Given the description of an element on the screen output the (x, y) to click on. 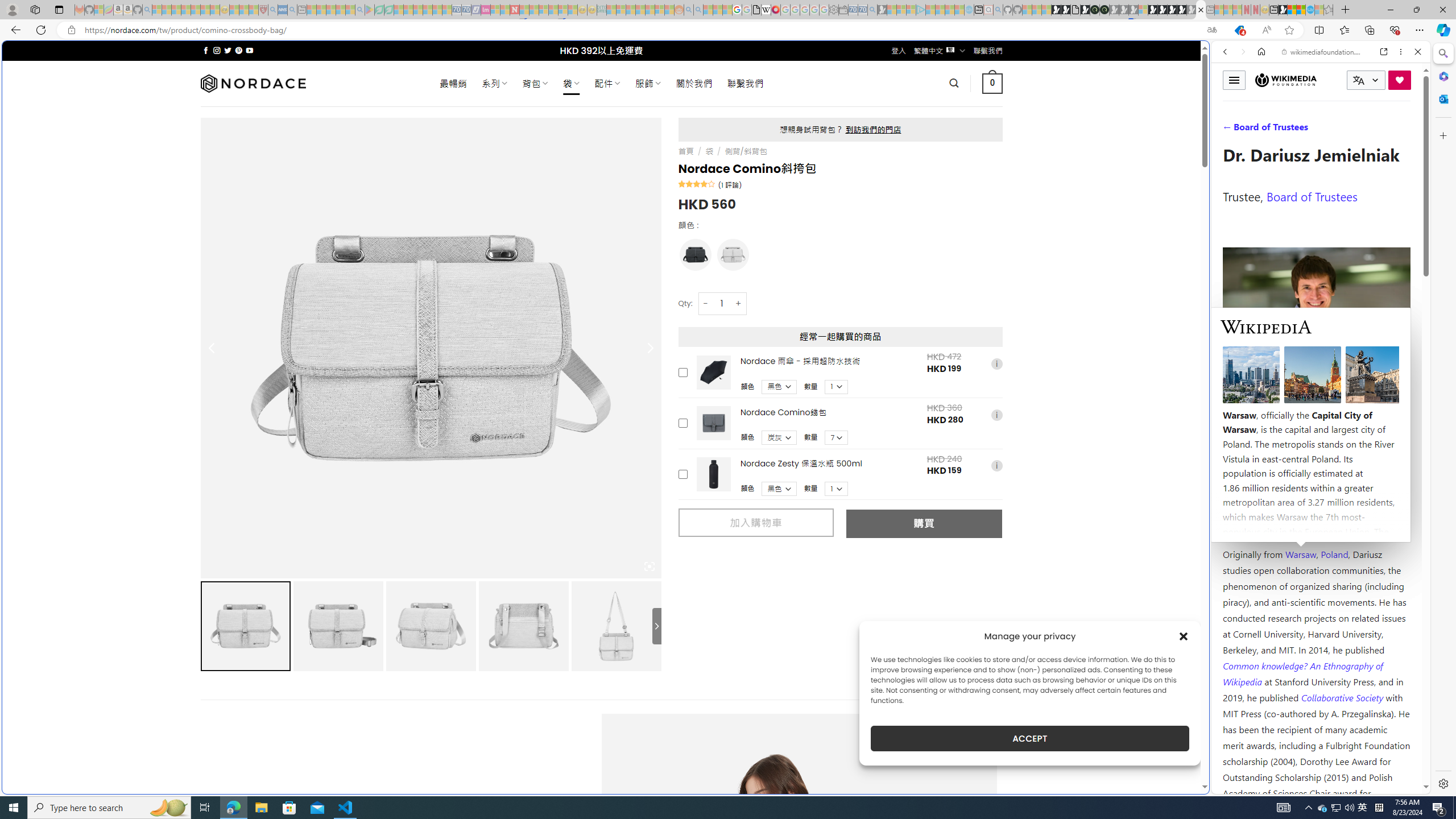
Close split screen (1208, 57)
Follow on YouTube (249, 50)
